Given the description of an element on the screen output the (x, y) to click on. 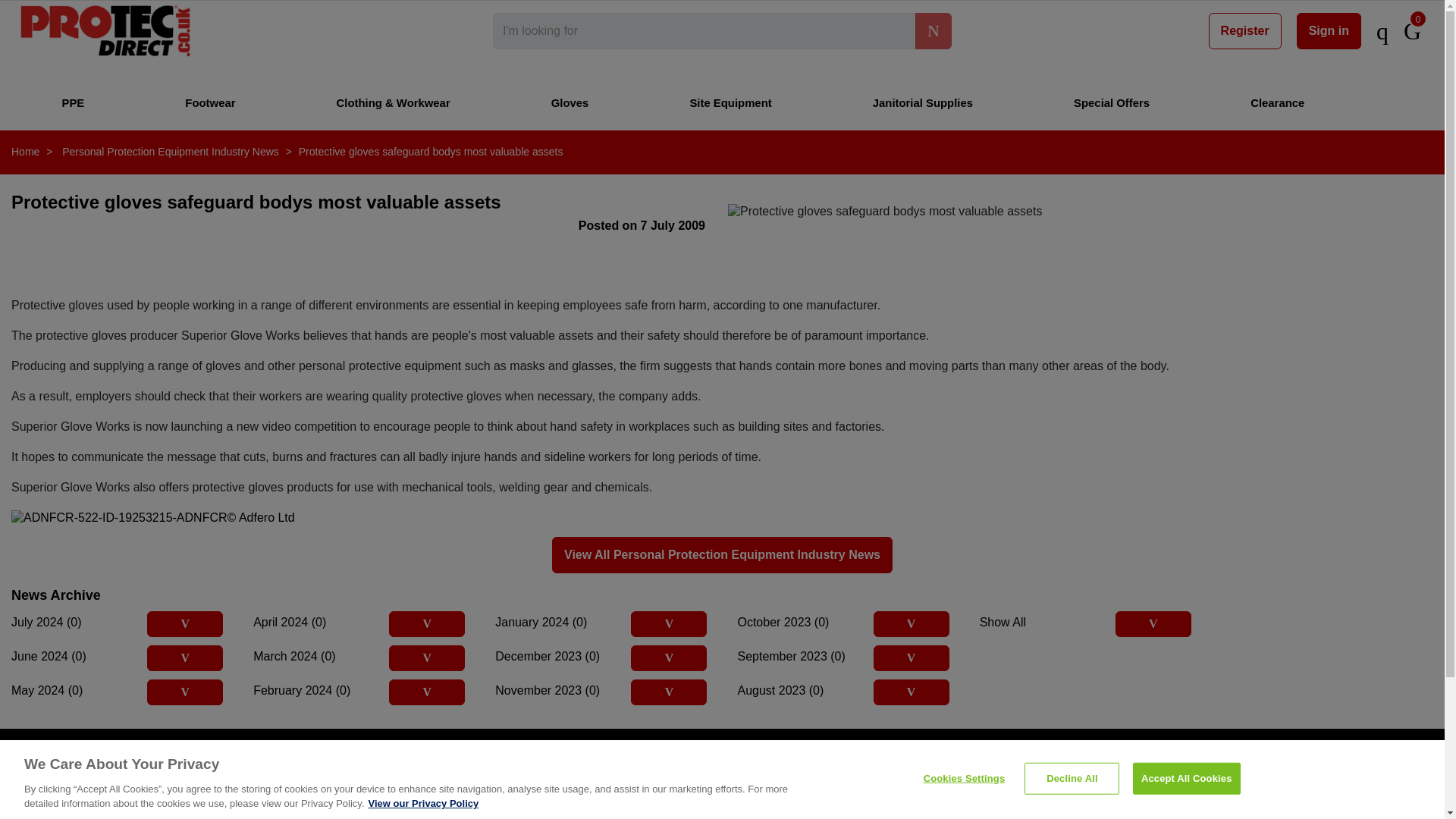
PPE (73, 101)
Sign in (1329, 31)
Protec Direct (105, 30)
Register (1244, 31)
PPE (73, 101)
